Given the description of an element on the screen output the (x, y) to click on. 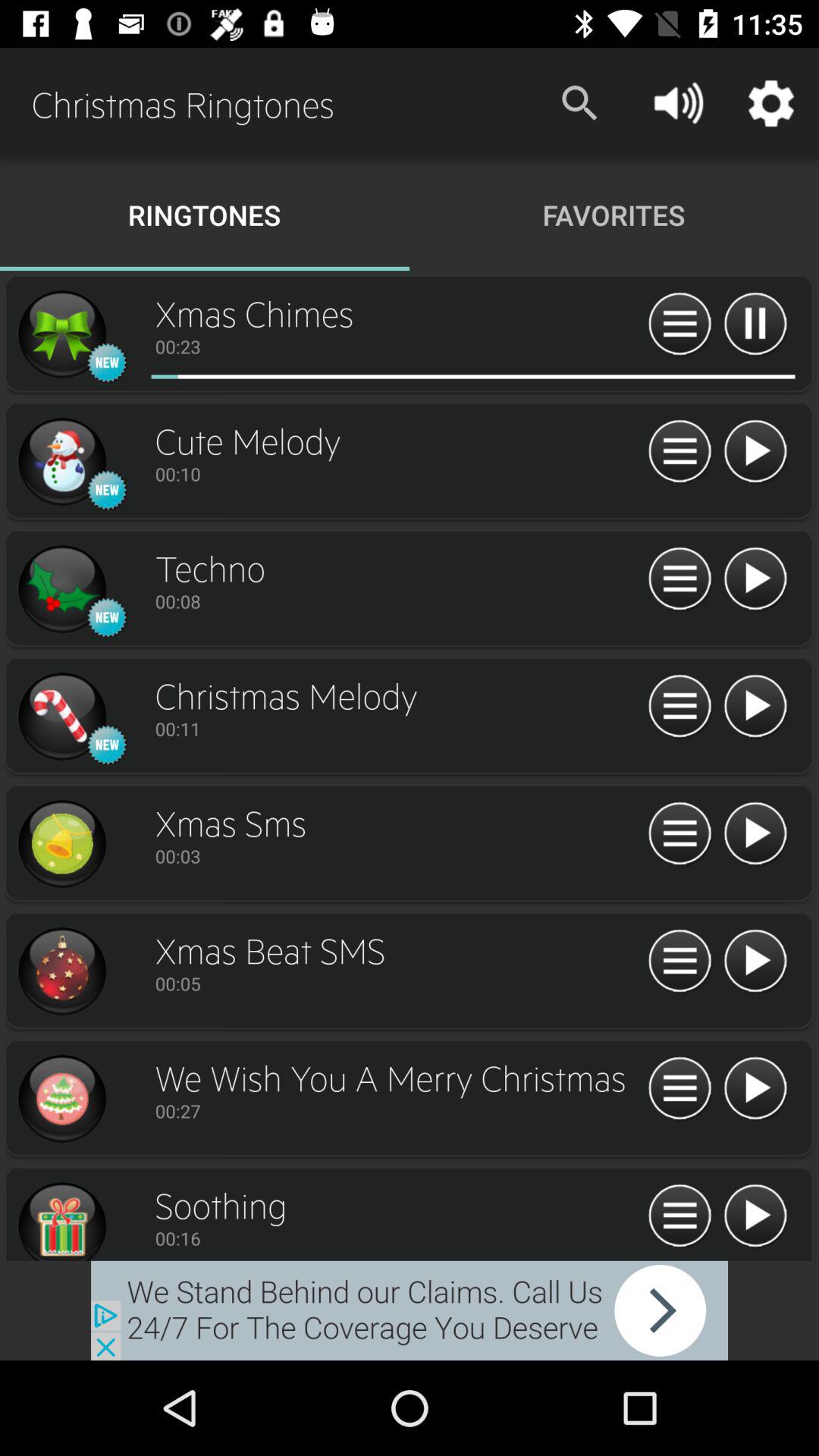
restart ringtone (679, 1088)
